Given the description of an element on the screen output the (x, y) to click on. 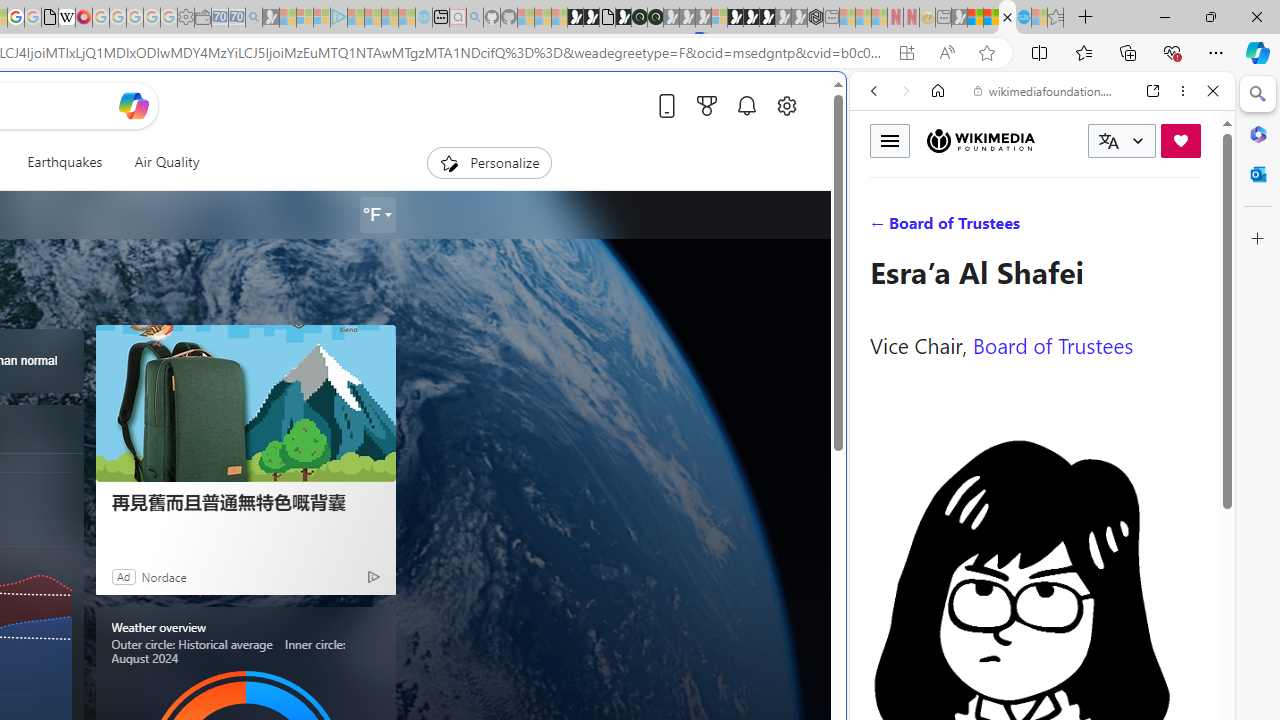
Wikimedia Foundation (980, 141)
